Given the description of an element on the screen output the (x, y) to click on. 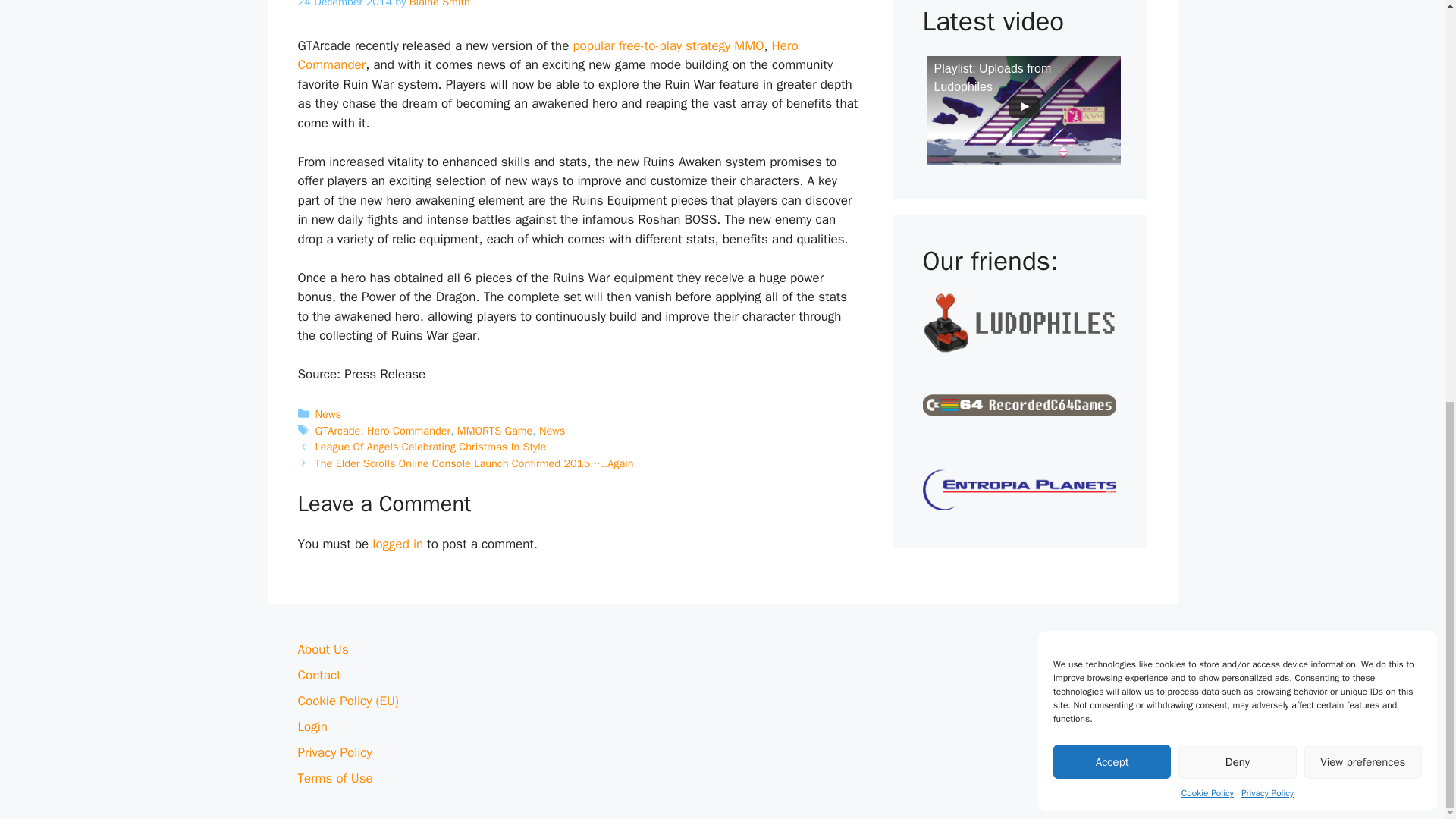
popular free-to-play strategy MMO (667, 45)
View all posts by Blaine Smith (439, 4)
Privacy Policy (1267, 6)
Cookie Policy (1206, 6)
Hero Commander (547, 55)
Scroll back to top (1406, 752)
Playlist: Uploads from Ludophiles (1023, 110)
